Given the description of an element on the screen output the (x, y) to click on. 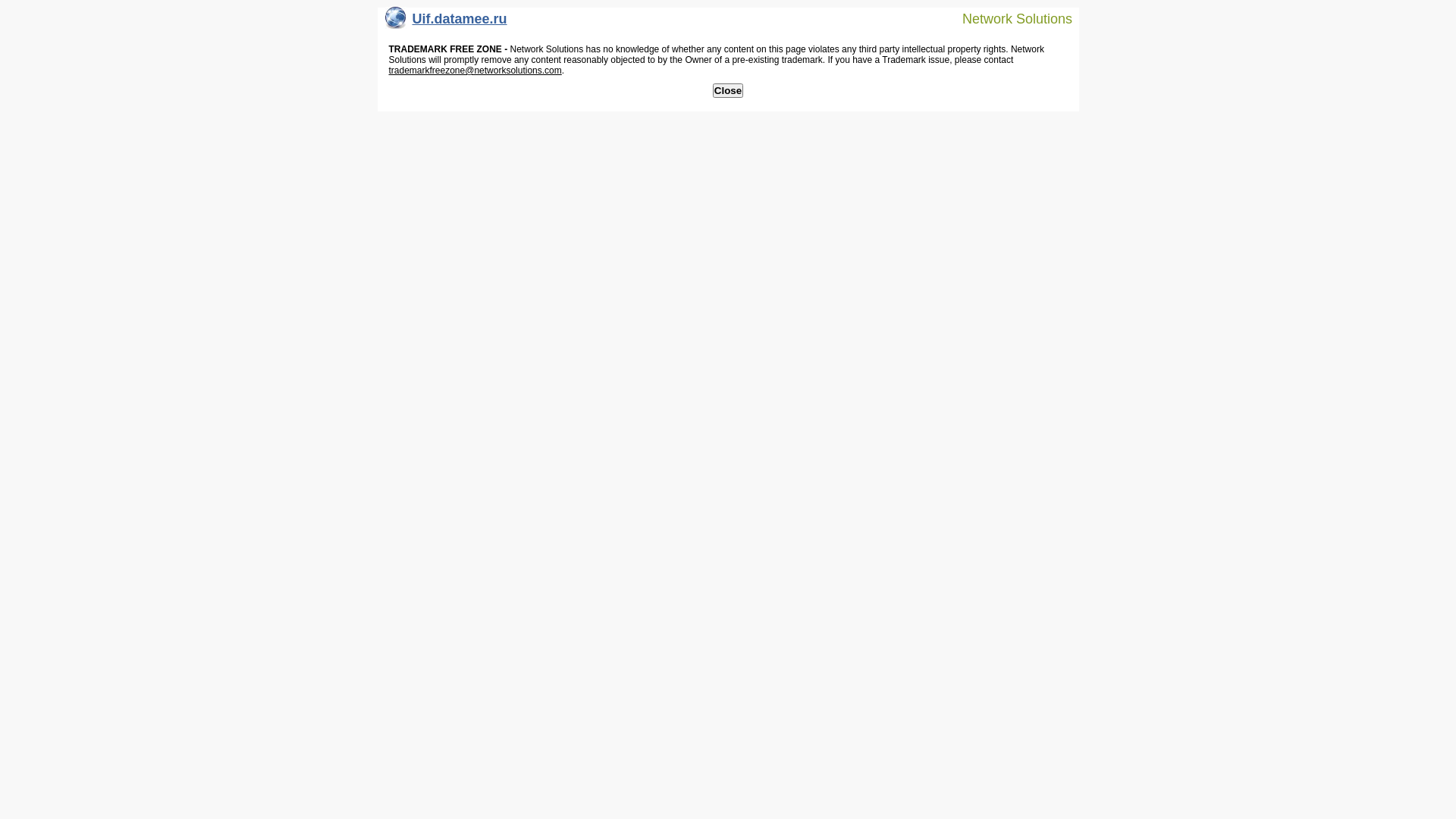
Network Solutions Element type: text (1007, 17)
Close Element type: text (727, 90)
Uif.datamee.ru Element type: text (446, 21)
trademarkfreezone@networksolutions.com Element type: text (474, 70)
